Given the description of an element on the screen output the (x, y) to click on. 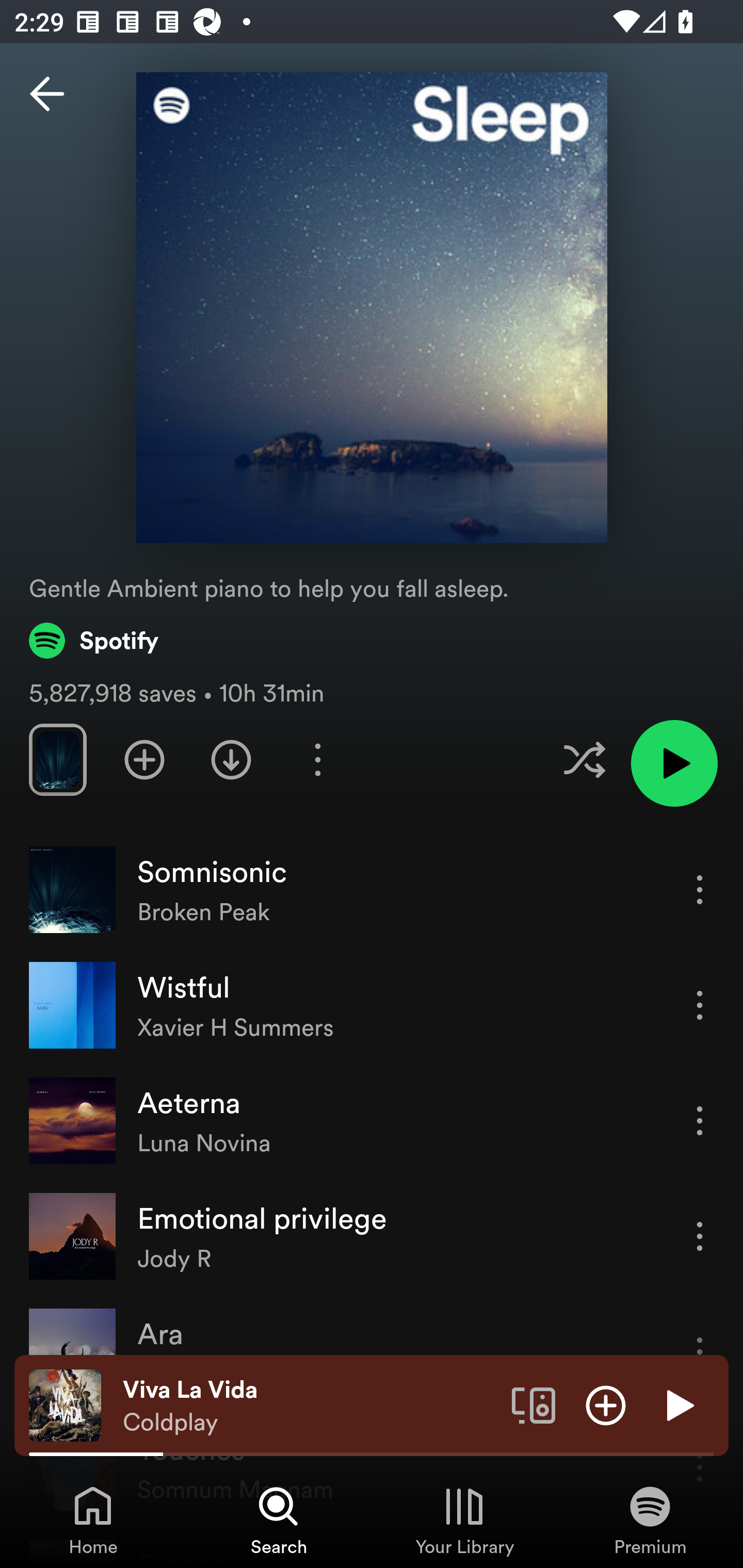
Back (46, 93)
Spotify (93, 640)
Swipe through previews of tracks in this playlist. (57, 759)
Add playlist to Your Library (144, 759)
Download (230, 759)
More options for playlist Sleep (317, 759)
Enable shuffle for this playlist (583, 759)
Play playlist (674, 763)
More options for song Somnisonic (699, 889)
More options for song Wistful (699, 1004)
Aeterna Luna Novina More options for song Aeterna (371, 1121)
More options for song Aeterna (699, 1120)
More options for song Emotional privilege (699, 1236)
Viva La Vida Coldplay (309, 1405)
The cover art of the currently playing track (64, 1404)
Connect to a device. Opens the devices menu (533, 1404)
Add item (605, 1404)
Play (677, 1404)
Home, Tab 1 of 4 Home Home (92, 1519)
Search, Tab 2 of 4 Search Search (278, 1519)
Your Library, Tab 3 of 4 Your Library Your Library (464, 1519)
Premium, Tab 4 of 4 Premium Premium (650, 1519)
